Given the description of an element on the screen output the (x, y) to click on. 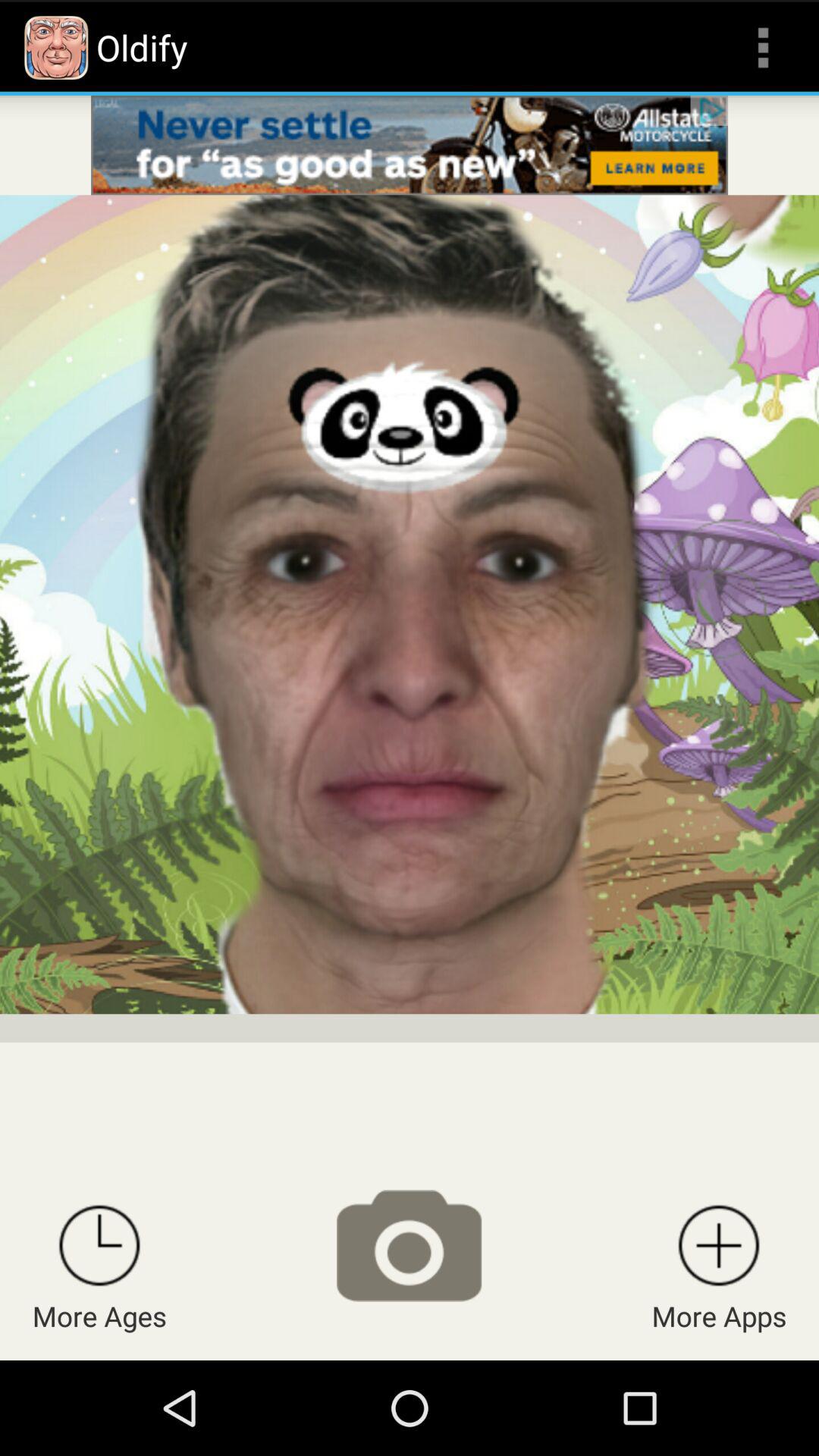
see apps (718, 1245)
